Given the description of an element on the screen output the (x, y) to click on. 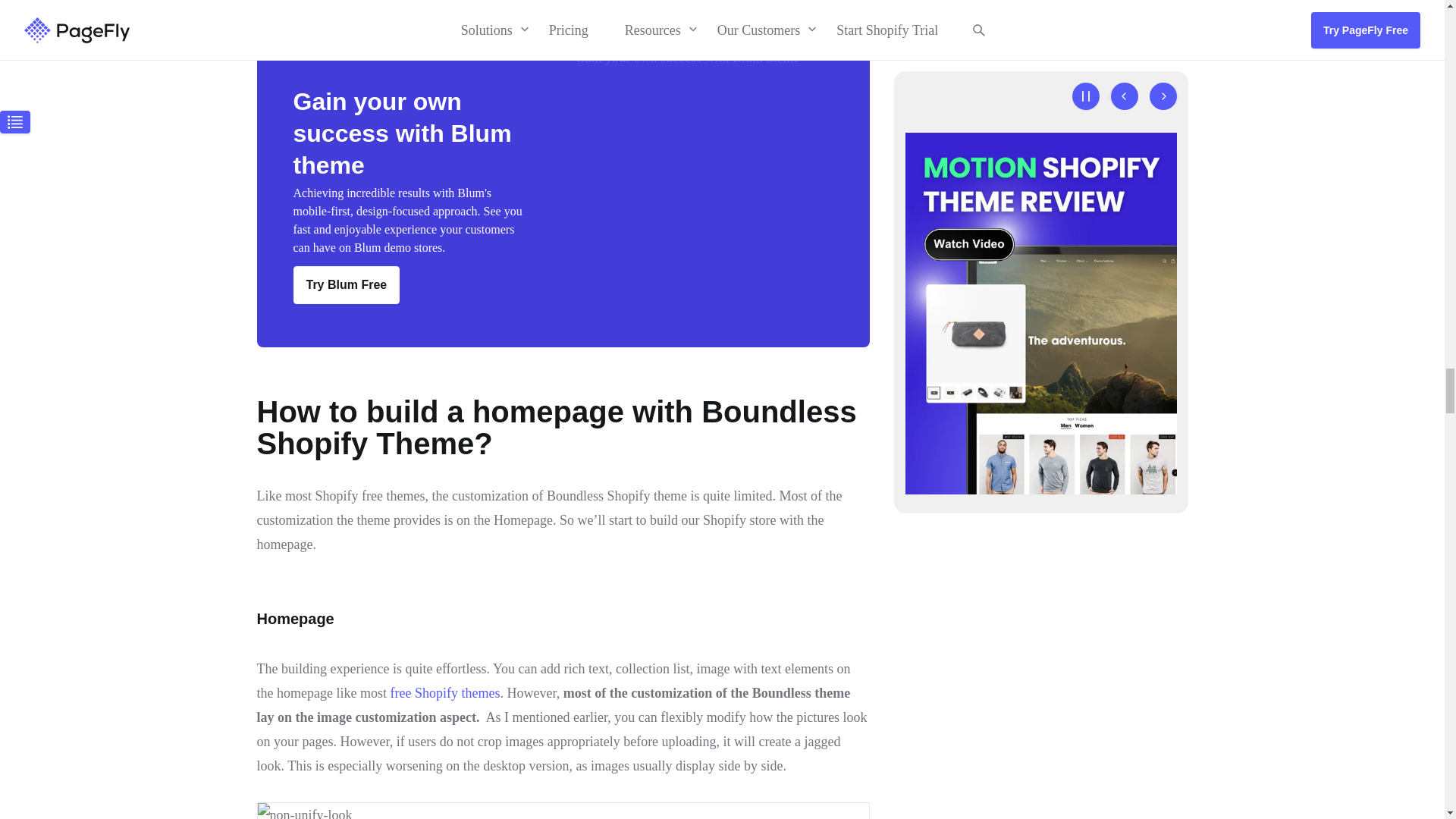
free shopify themes (444, 693)
